Given the description of an element on the screen output the (x, y) to click on. 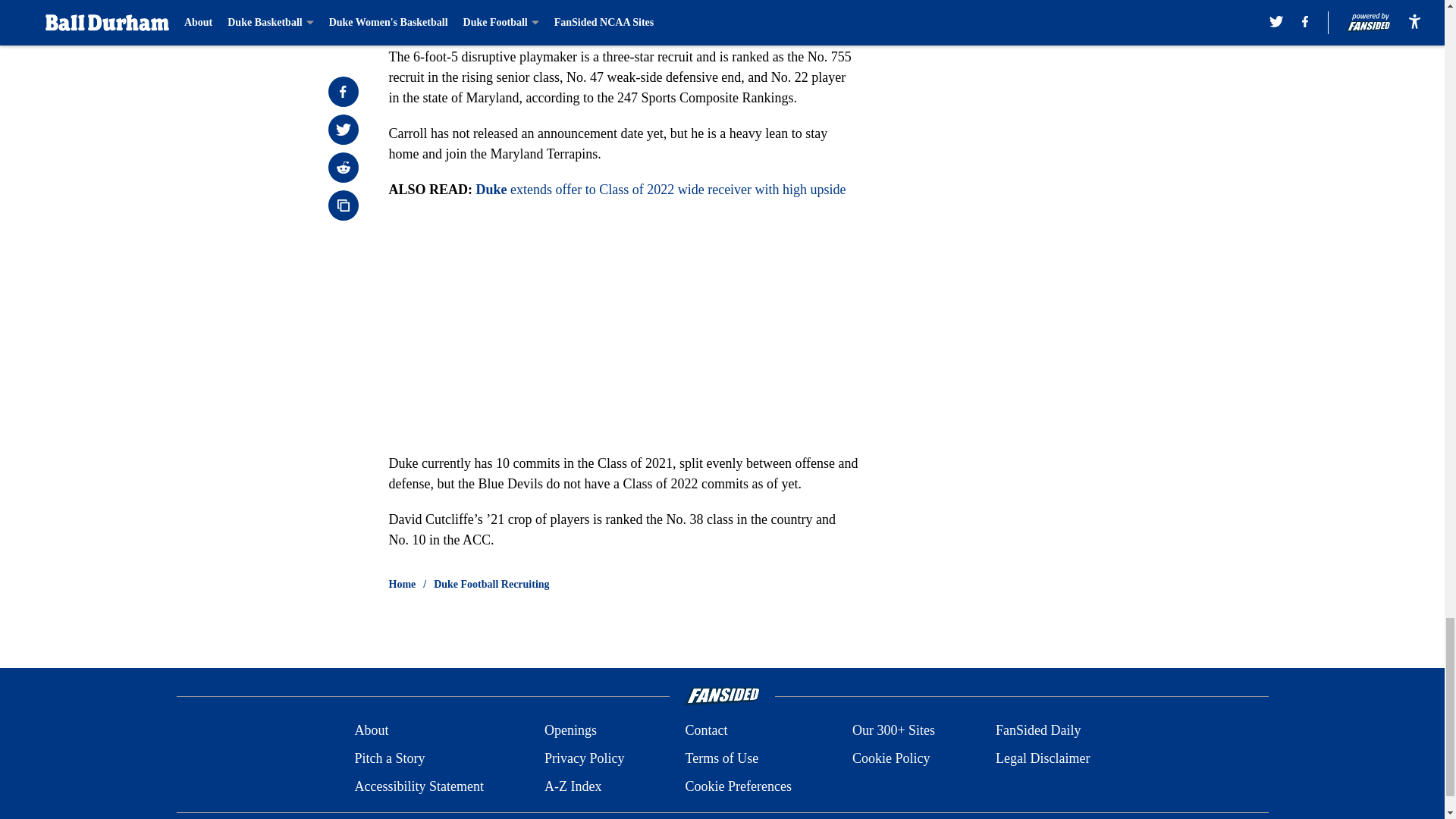
Duke Football Recruiting (490, 584)
Openings (570, 730)
Contact (705, 730)
Home (401, 584)
FanSided Daily (1038, 730)
About (370, 730)
